Given the description of an element on the screen output the (x, y) to click on. 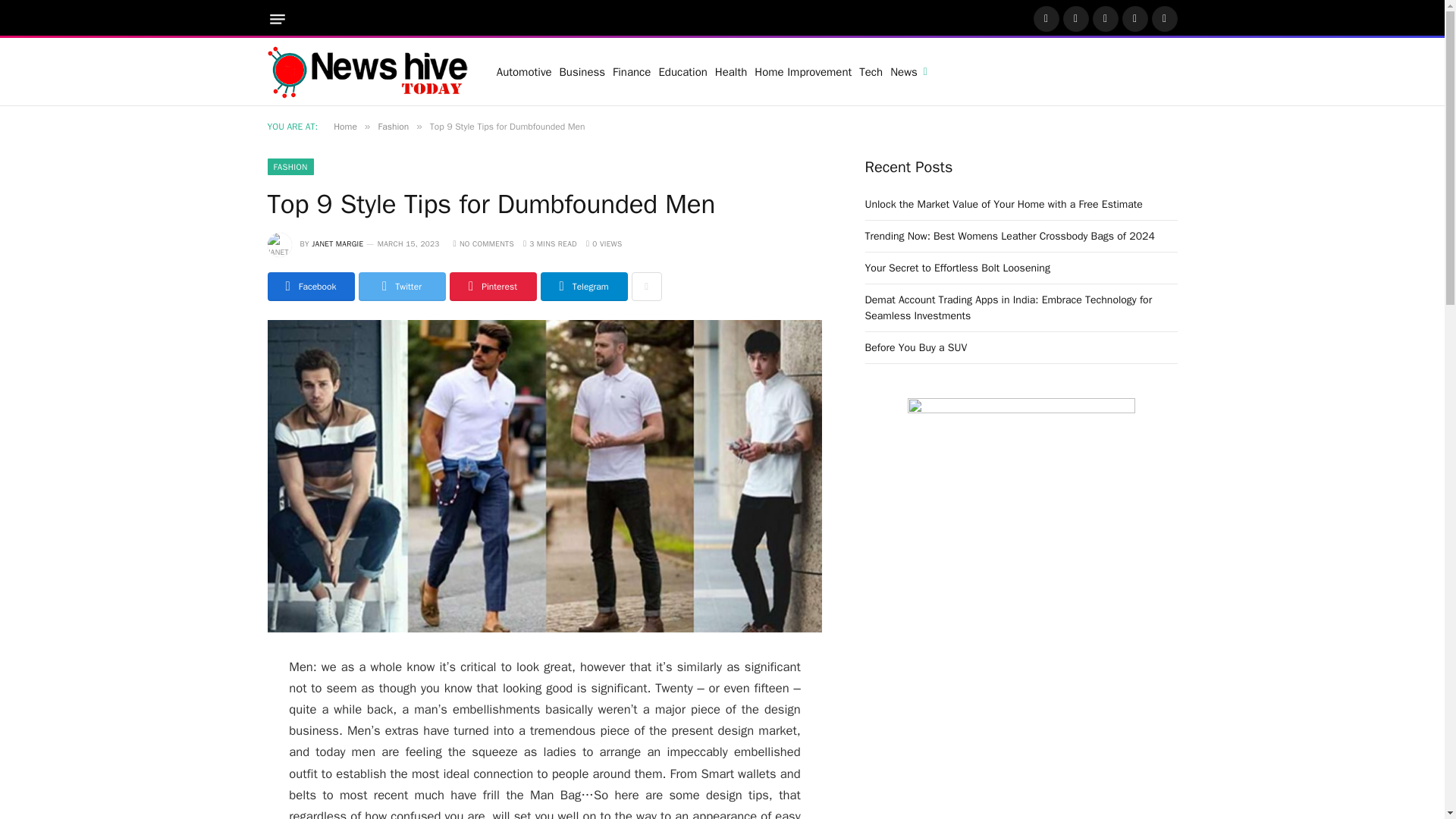
Posts by Janet Margie (336, 243)
Vimeo (1163, 18)
News Hive Today (367, 71)
Automotive (524, 71)
Home (344, 126)
Home Improvement (803, 71)
Instagram (1105, 18)
0 Article Views (604, 243)
Share on Telegram (583, 286)
Share on Pinterest (491, 286)
Pinterest (1135, 18)
NO COMMENTS (482, 243)
Share on Facebook (309, 286)
Facebook (1045, 18)
FASHION (289, 166)
